Given the description of an element on the screen output the (x, y) to click on. 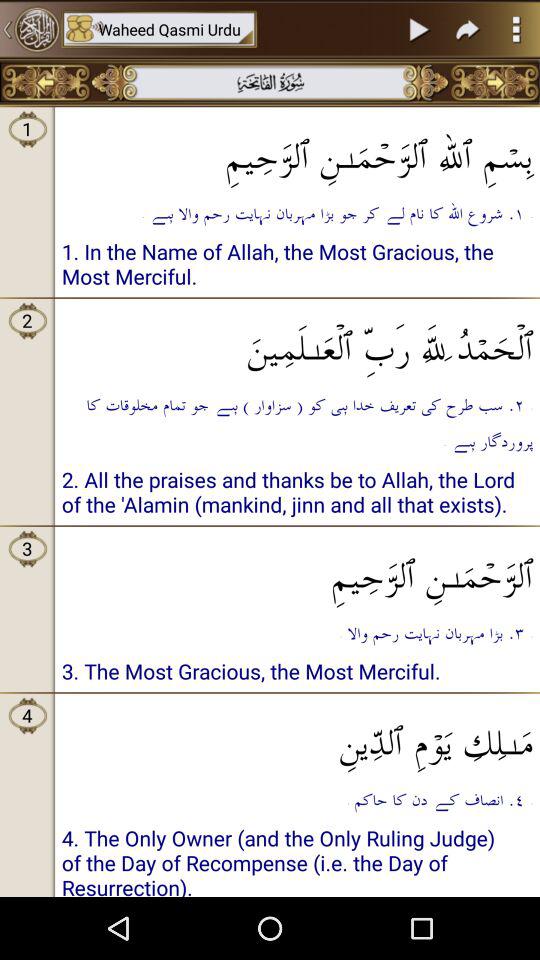
click the icon to the right of 4 icon (297, 736)
